Given the description of an element on the screen output the (x, y) to click on. 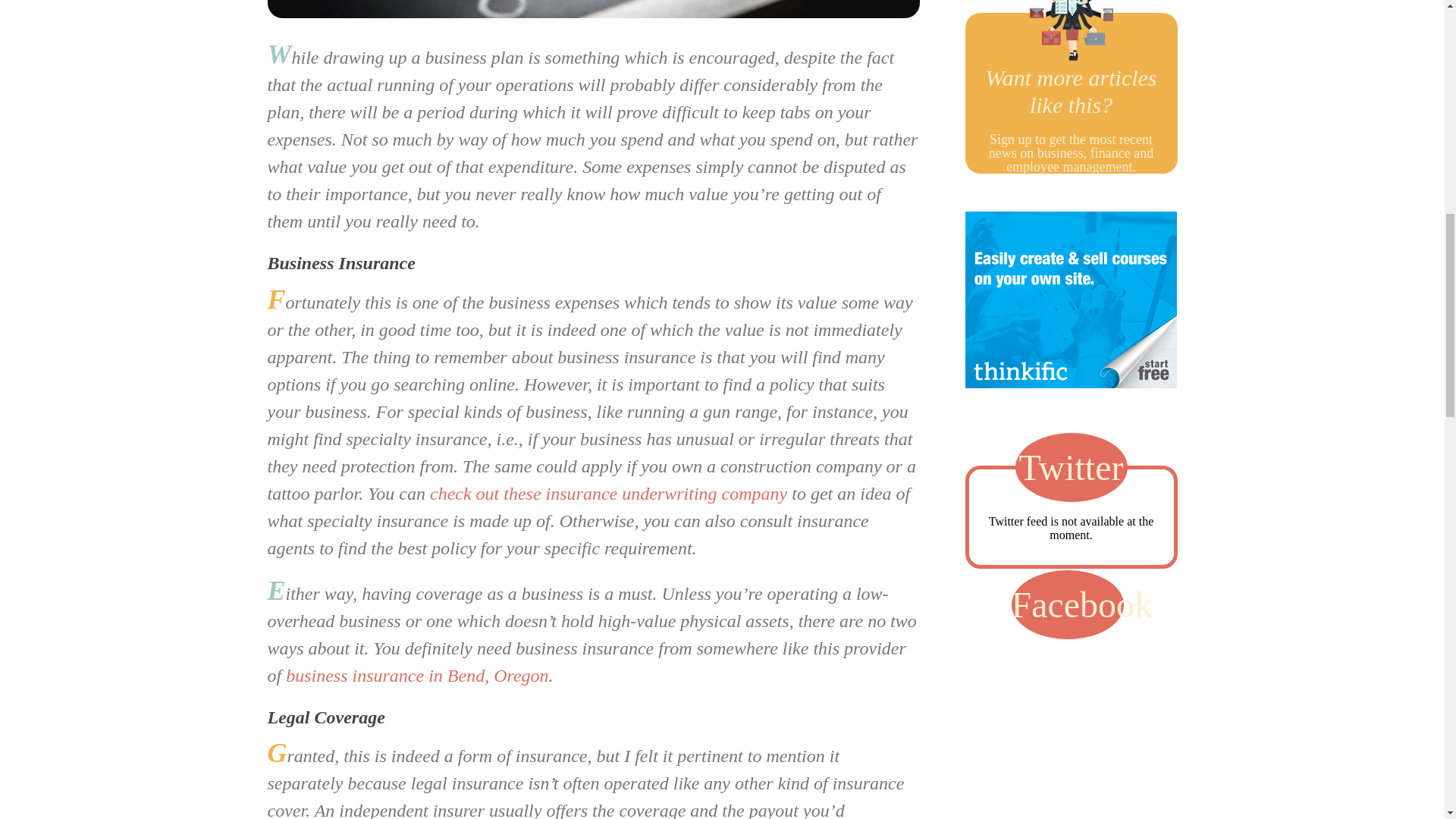
check out these insurance underwriting company (608, 493)
business insurance in Bend, Oregon (416, 675)
